Given the description of an element on the screen output the (x, y) to click on. 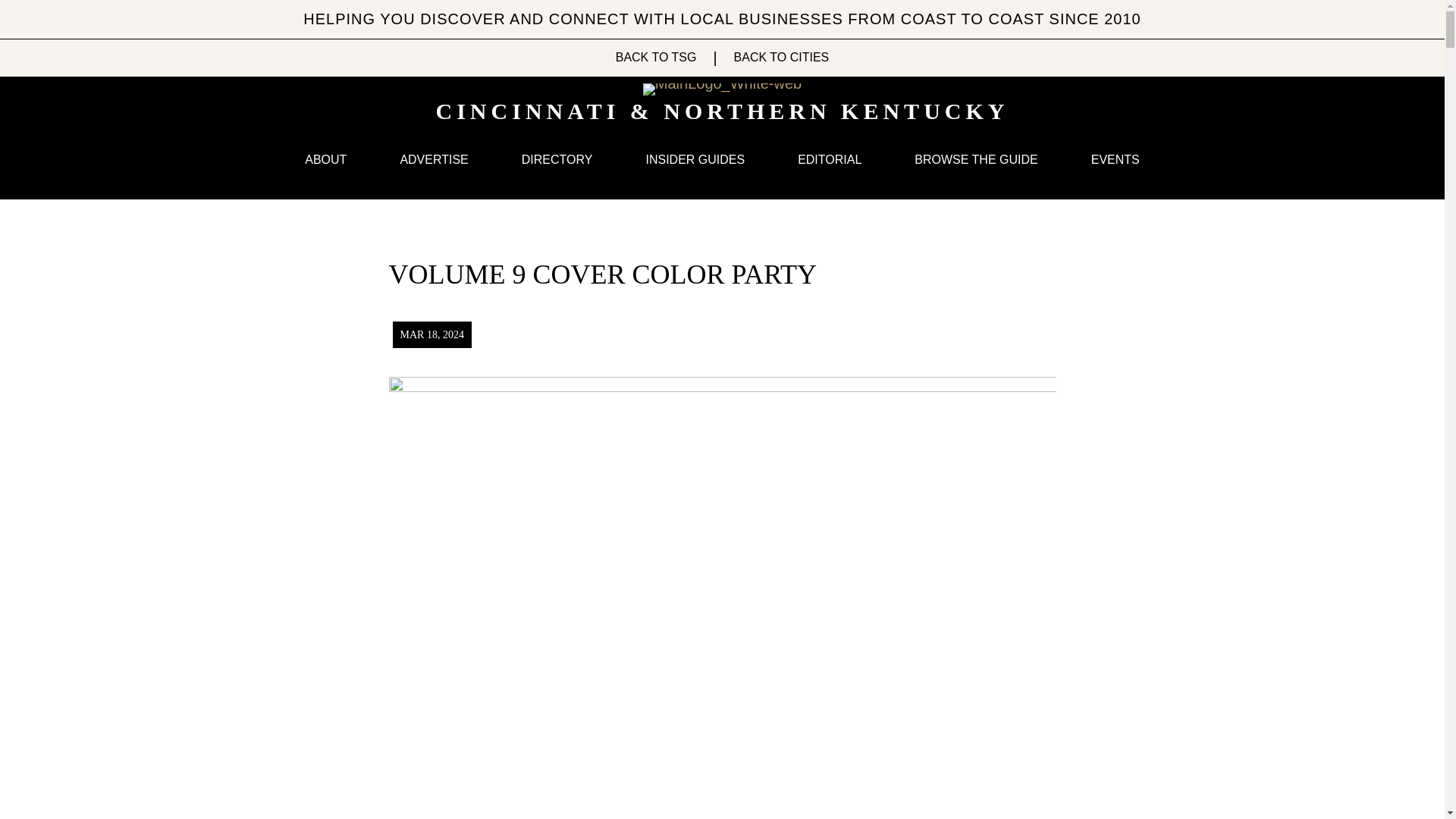
BROWSE THE GUIDE (976, 159)
EDITORIAL (829, 159)
EVENTS (1115, 159)
INSIDER GUIDES (694, 159)
DIRECTORY (556, 159)
BACK TO CITIES (781, 57)
ADVERTISE (433, 159)
BACK TO TSG (656, 57)
ABOUT (325, 159)
